Given the description of an element on the screen output the (x, y) to click on. 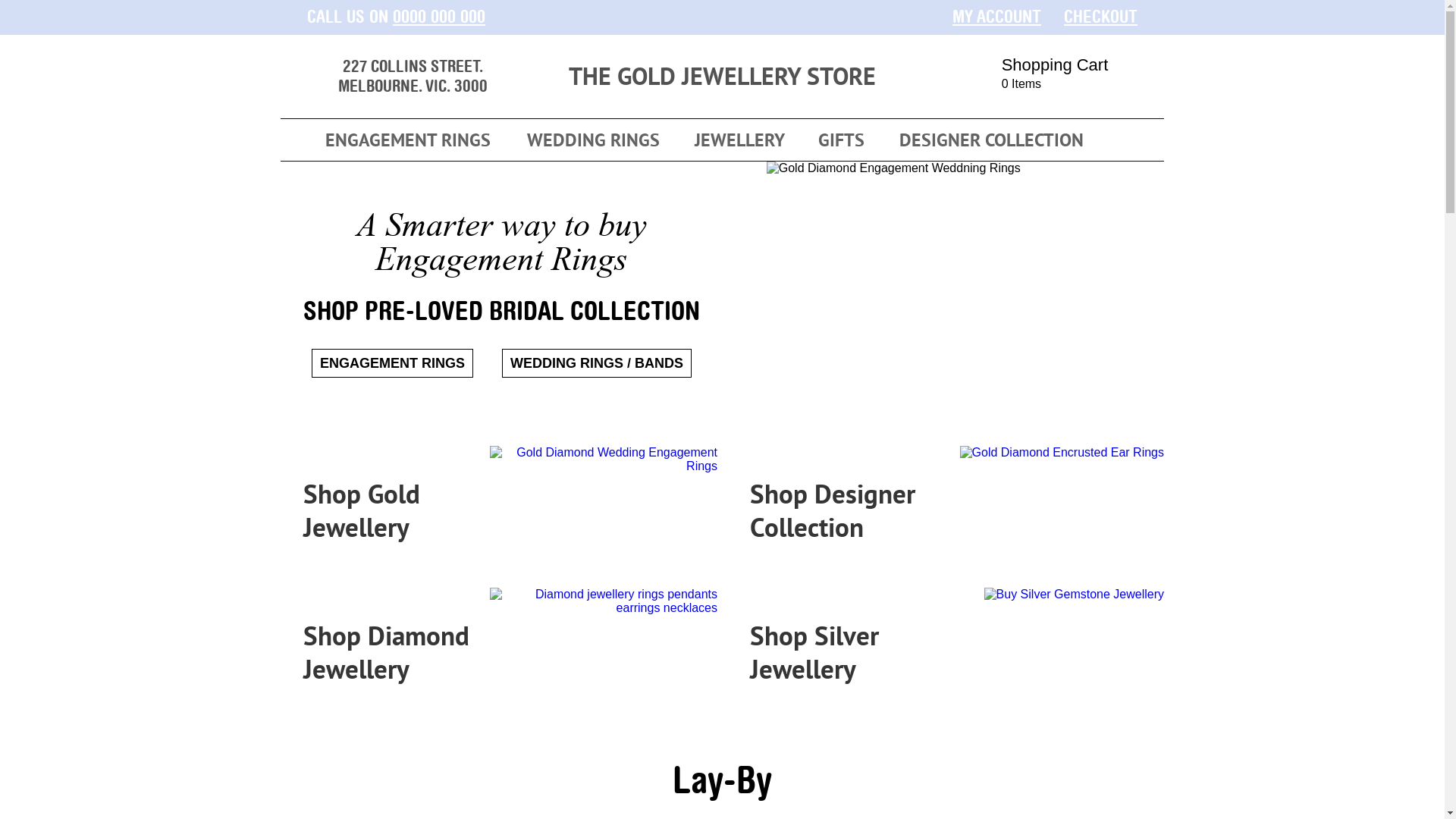
WEDDING RINGS Element type: text (592, 139)
Gold Diamond Engagement Weddning Rings Element type: hover (893, 168)
Gold Diamond Encrusted Ear Rings Element type: hover (1062, 452)
Buy Silver Gemstone Jewellery Element type: hover (1074, 594)
Search Element type: text (1143, 139)
0000 000 000 Element type: text (438, 16)
ENGAGEMENT RINGS Element type: text (392, 362)
Shop Gold Jewellery Element type: text (498, 511)
MY ACCOUNT Element type: text (996, 16)
Shopping Cart
0 Items Element type: text (1062, 76)
WEDDING RINGS / BANDS Element type: text (596, 362)
JEWELLERY Element type: text (739, 139)
Shop Silver Jewellery Element type: text (945, 652)
Diamond jewellery rings pendants earrings necklaces Element type: hover (603, 601)
Shop Designer Collection Element type: text (945, 511)
GIFTS Element type: text (840, 139)
Gold Diamond Wedding Engagement Rings Element type: hover (603, 459)
CHECKOUT Element type: text (1100, 16)
Shop Diamond Jewellery Element type: text (498, 652)
THE GOLD JEWELLERY STORE Element type: text (721, 78)
ENGAGEMENT RINGS Element type: text (407, 139)
DESIGNER COLLECTION Element type: text (990, 139)
